Given the description of an element on the screen output the (x, y) to click on. 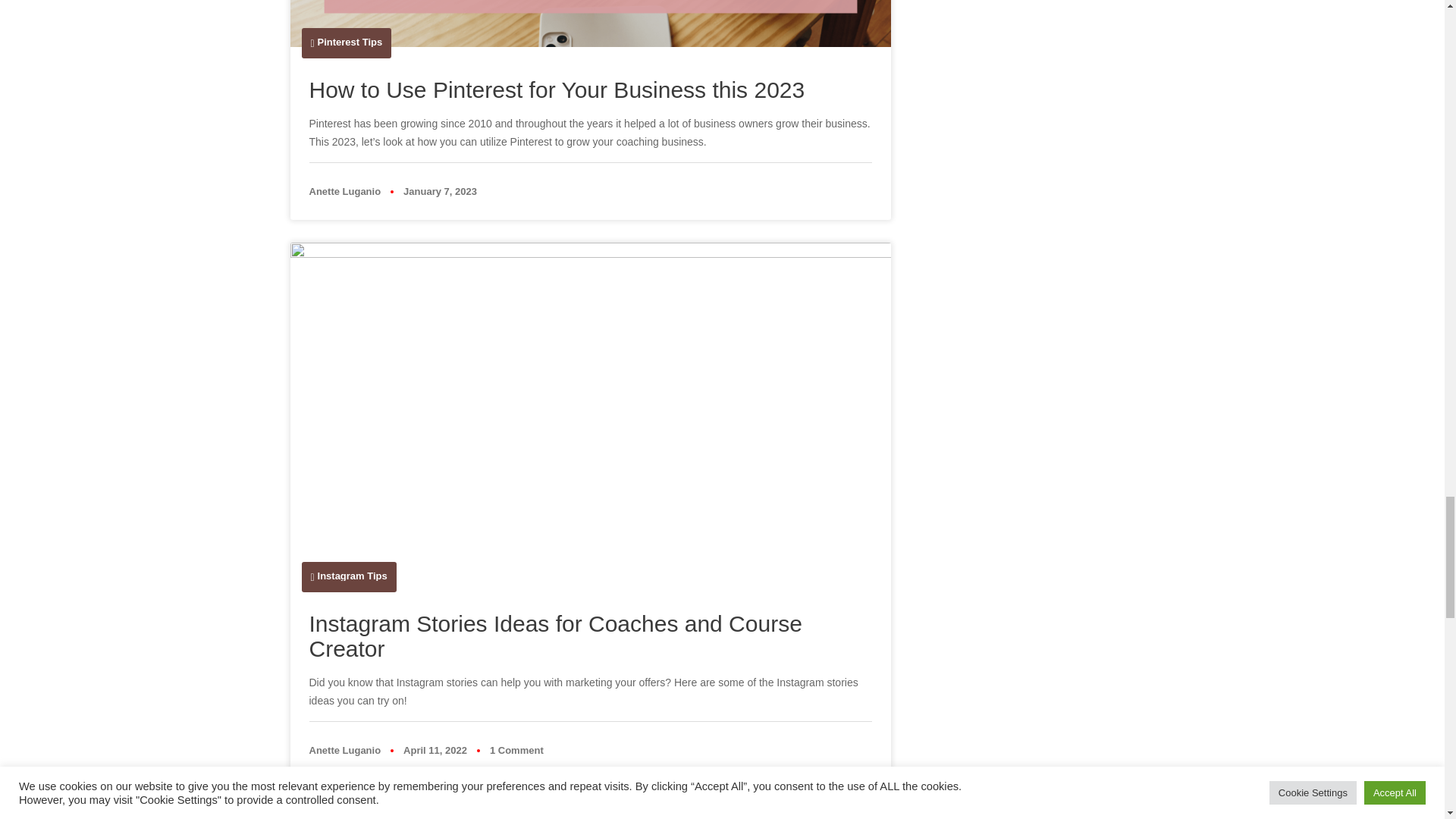
Anette Luganio (344, 191)
Pinterest Tips (349, 41)
How to Use Pinterest for Your Business this 2023 (556, 89)
January 7, 2023 (440, 191)
